Given the description of an element on the screen output the (x, y) to click on. 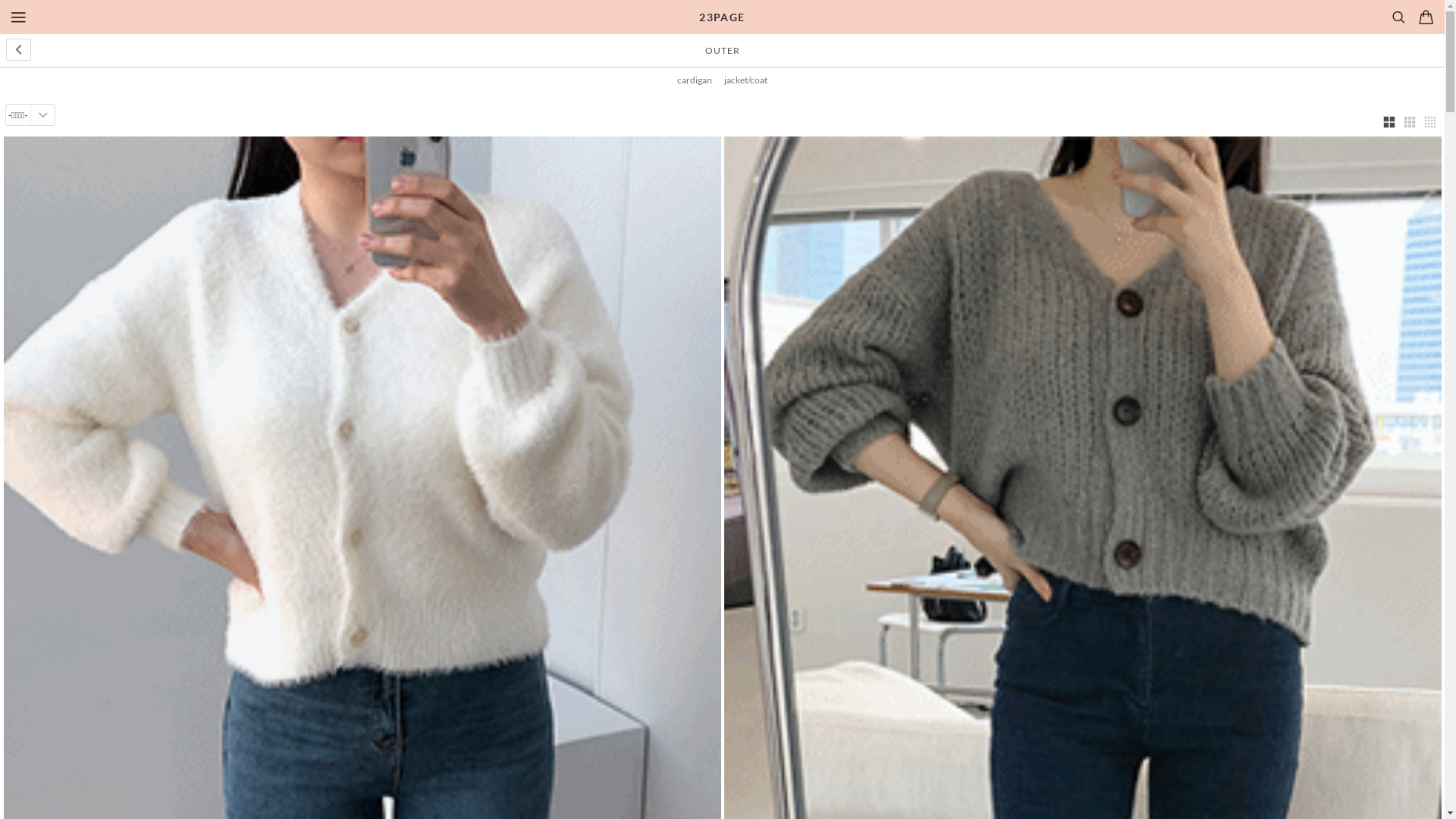
23PAGE Element type: text (721, 16)
jacket/coat Element type: text (745, 80)
cardigan Element type: text (694, 80)
